Given the description of an element on the screen output the (x, y) to click on. 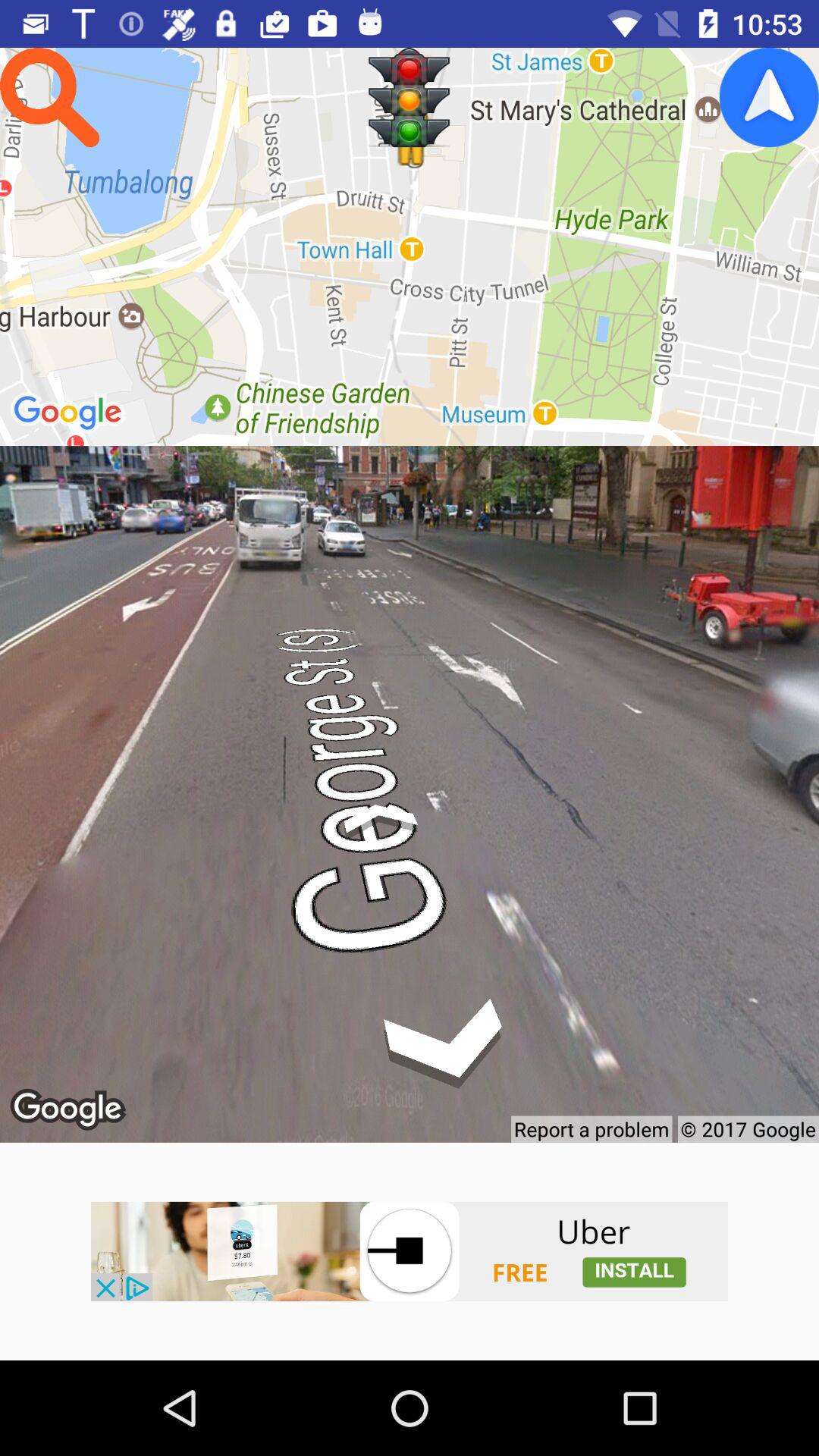
traffic signal (408, 97)
